Given the description of an element on the screen output the (x, y) to click on. 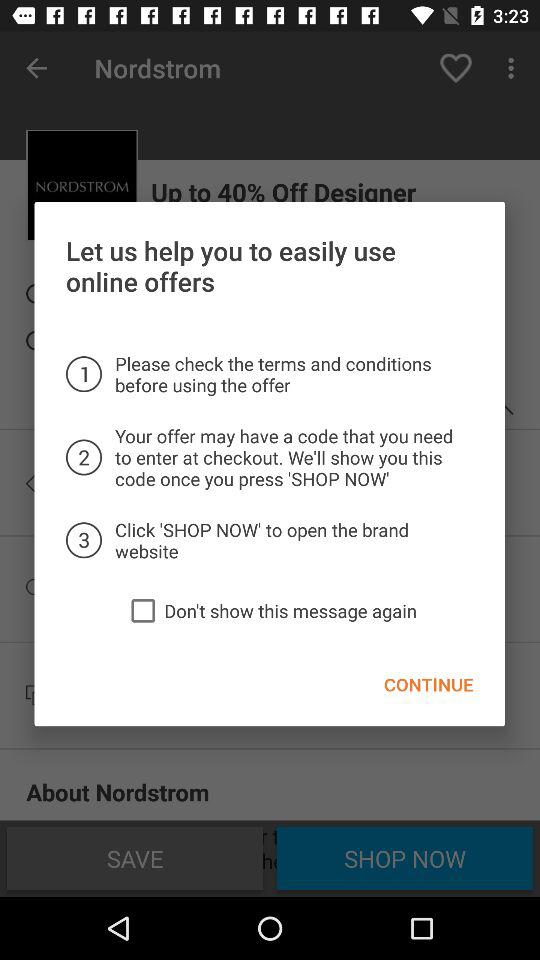
turn off item below click shop now (143, 610)
